Given the description of an element on the screen output the (x, y) to click on. 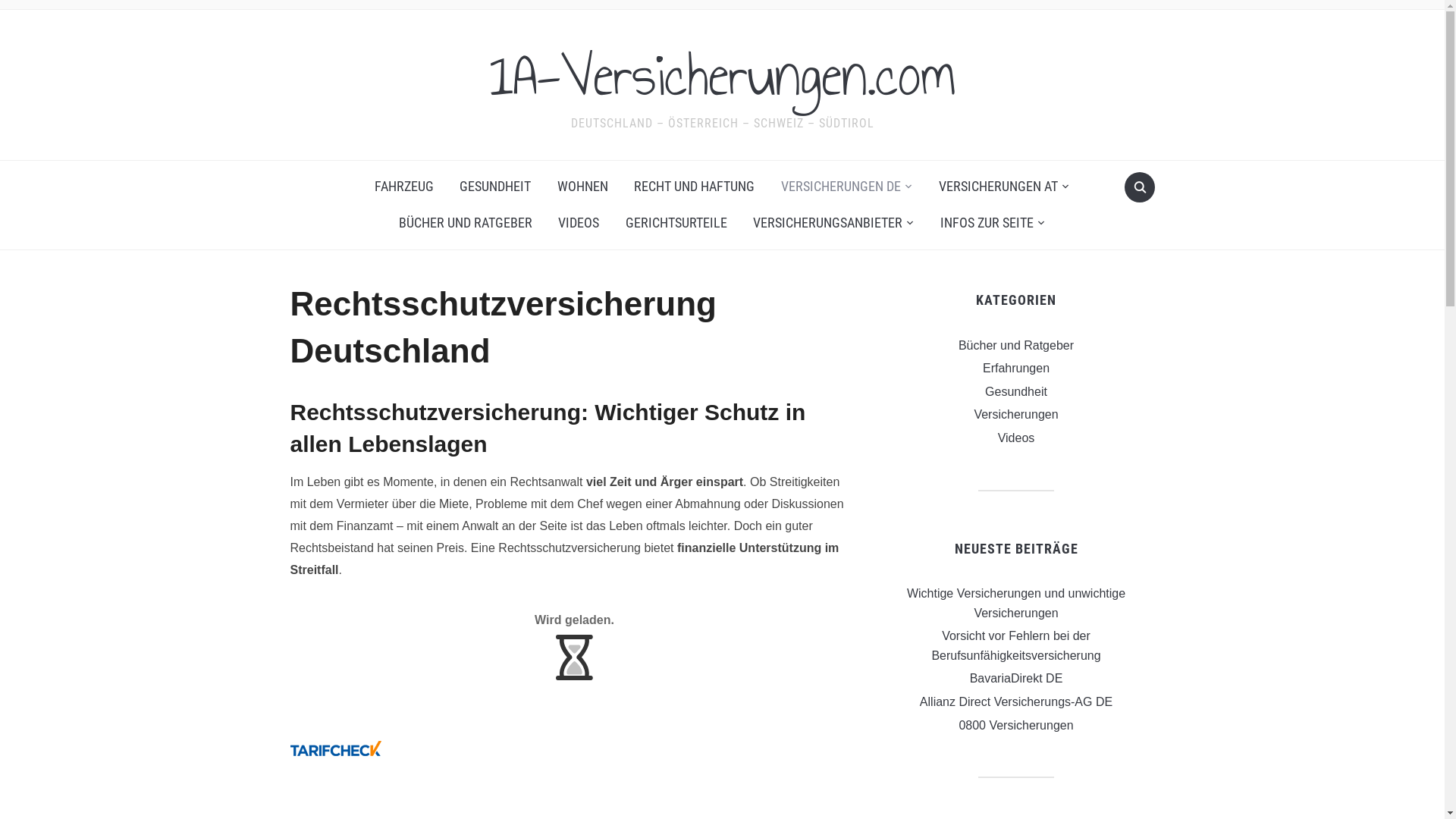
BavariaDirekt DE Element type: text (1016, 677)
Allianz Direct Versicherungs-AG DE Element type: text (1015, 701)
Erfahrungen Element type: text (1015, 367)
FAHRZEUG Element type: text (404, 186)
Versicherungen Element type: text (1015, 413)
VERSICHERUNGSANBIETER Element type: text (833, 222)
0800 Versicherungen Element type: text (1015, 724)
WOHNEN Element type: text (582, 186)
1A-Versicherungen.com Element type: text (722, 74)
GESUNDHEIT Element type: text (495, 186)
INFOS ZUR SEITE Element type: text (992, 222)
RECHT UND HAFTUNG Element type: text (693, 186)
VERSICHERUNGEN AT Element type: text (1004, 186)
Wichtige Versicherungen und unwichtige Versicherungen Element type: text (1015, 602)
VIDEOS Element type: text (578, 222)
Gesundheit Element type: text (1016, 391)
Videos Element type: text (1016, 437)
GERICHTSURTEILE Element type: text (676, 222)
Suchen Element type: text (1138, 187)
VERSICHERUNGEN DE Element type: text (846, 186)
